Given the description of an element on the screen output the (x, y) to click on. 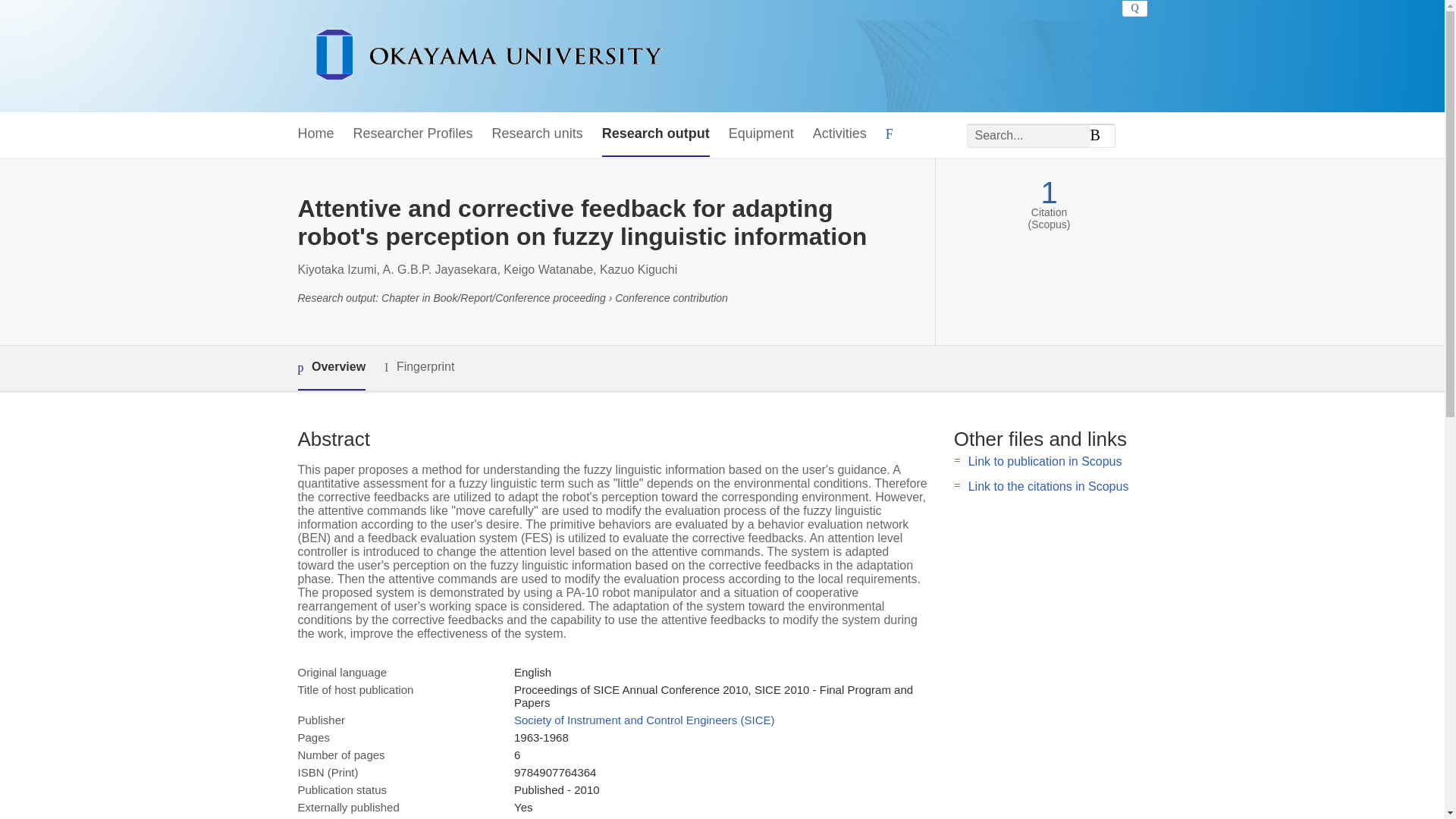
Equipment (761, 134)
Activities (839, 134)
Okayama University Home (487, 55)
Overview (331, 367)
Researcher Profiles (413, 134)
Research output (656, 134)
Research units (537, 134)
Link to publication in Scopus (1045, 461)
Fingerprint (419, 367)
Link to the citations in Scopus (1048, 486)
